Given the description of an element on the screen output the (x, y) to click on. 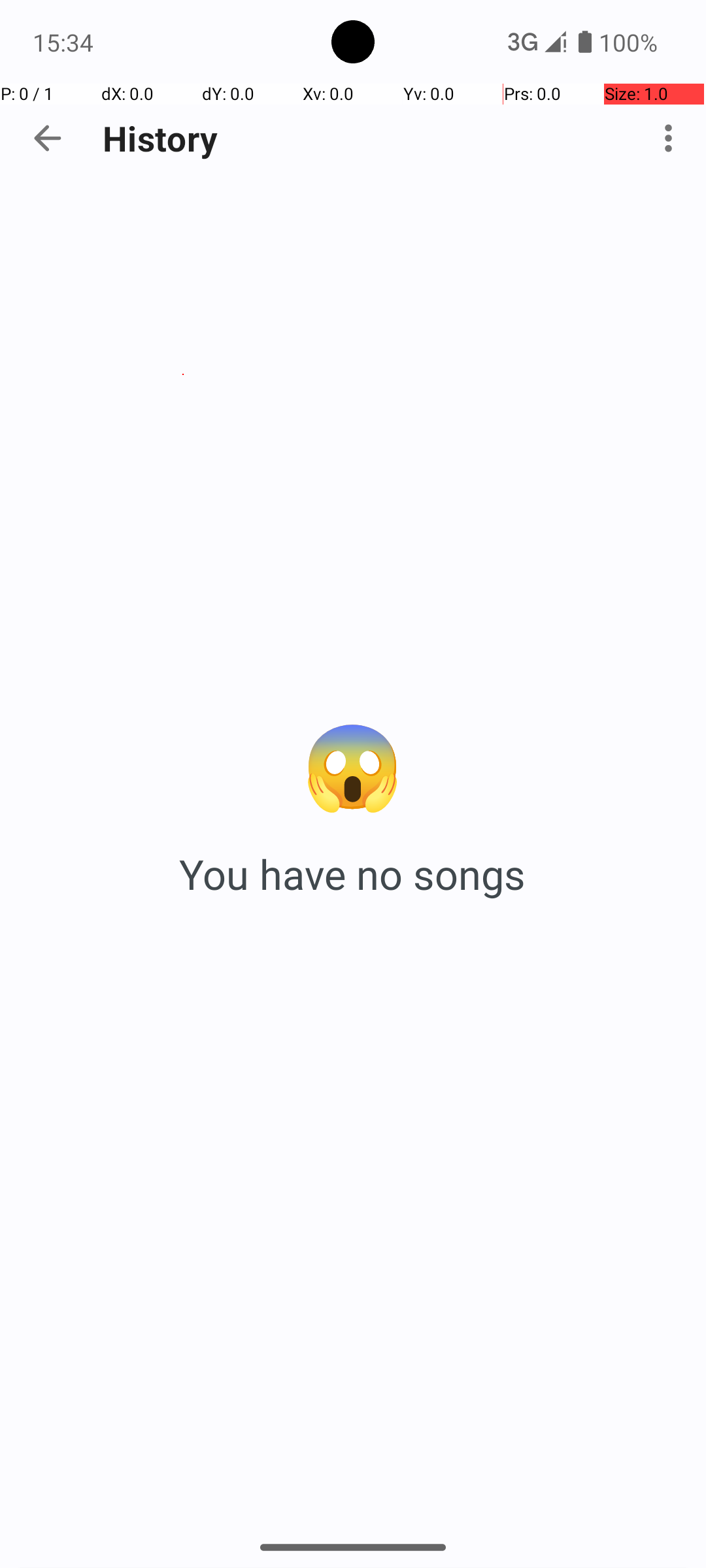
😱 Element type: android.widget.TextView (352, 763)
You have no songs Element type: android.widget.TextView (352, 873)
